Given the description of an element on the screen output the (x, y) to click on. 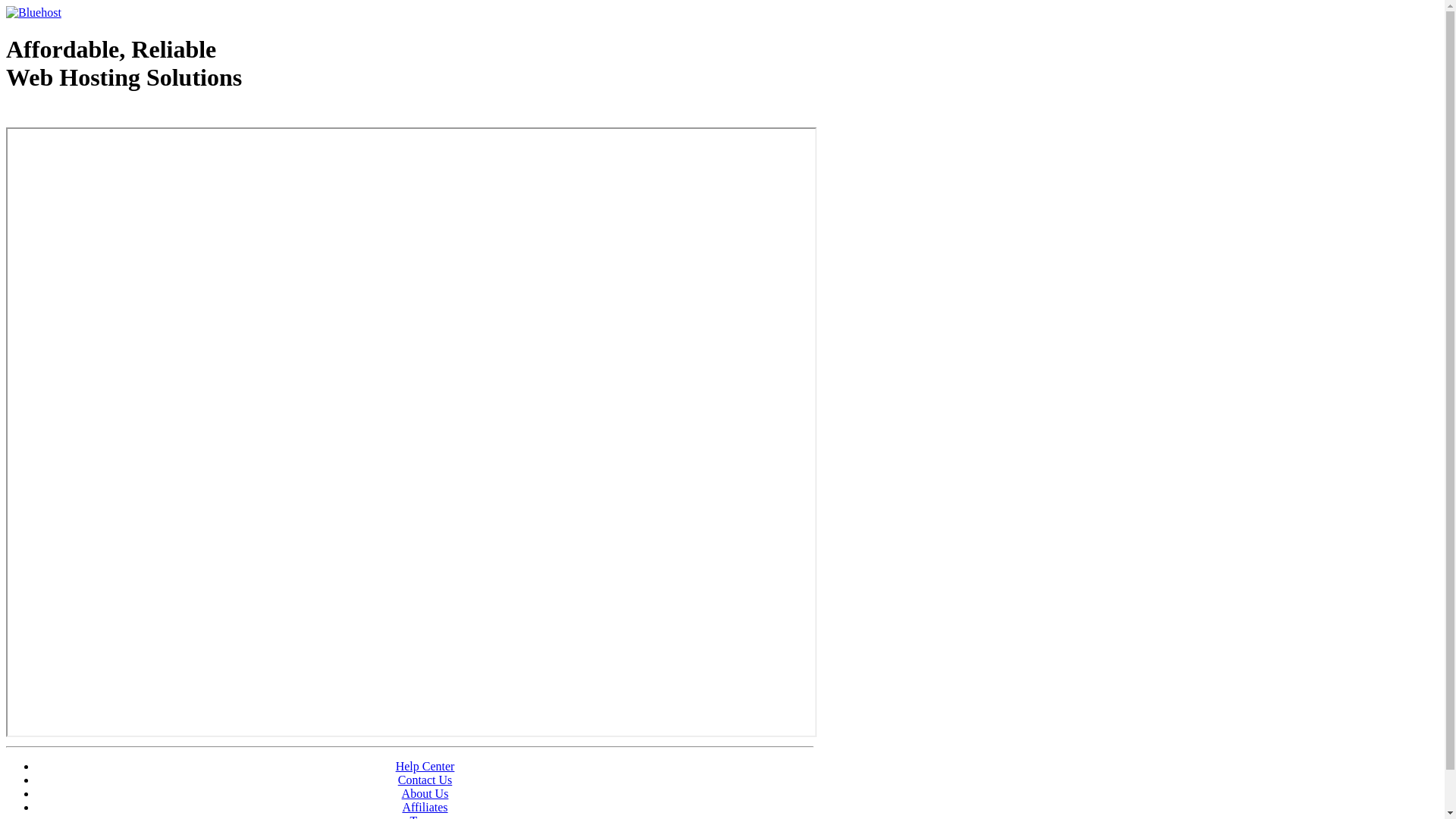
Contact Us Element type: text (425, 779)
Web Hosting - courtesy of www.bluehost.com Element type: text (94, 115)
Affiliates Element type: text (424, 806)
About Us Element type: text (424, 793)
Help Center Element type: text (425, 765)
